Given the description of an element on the screen output the (x, y) to click on. 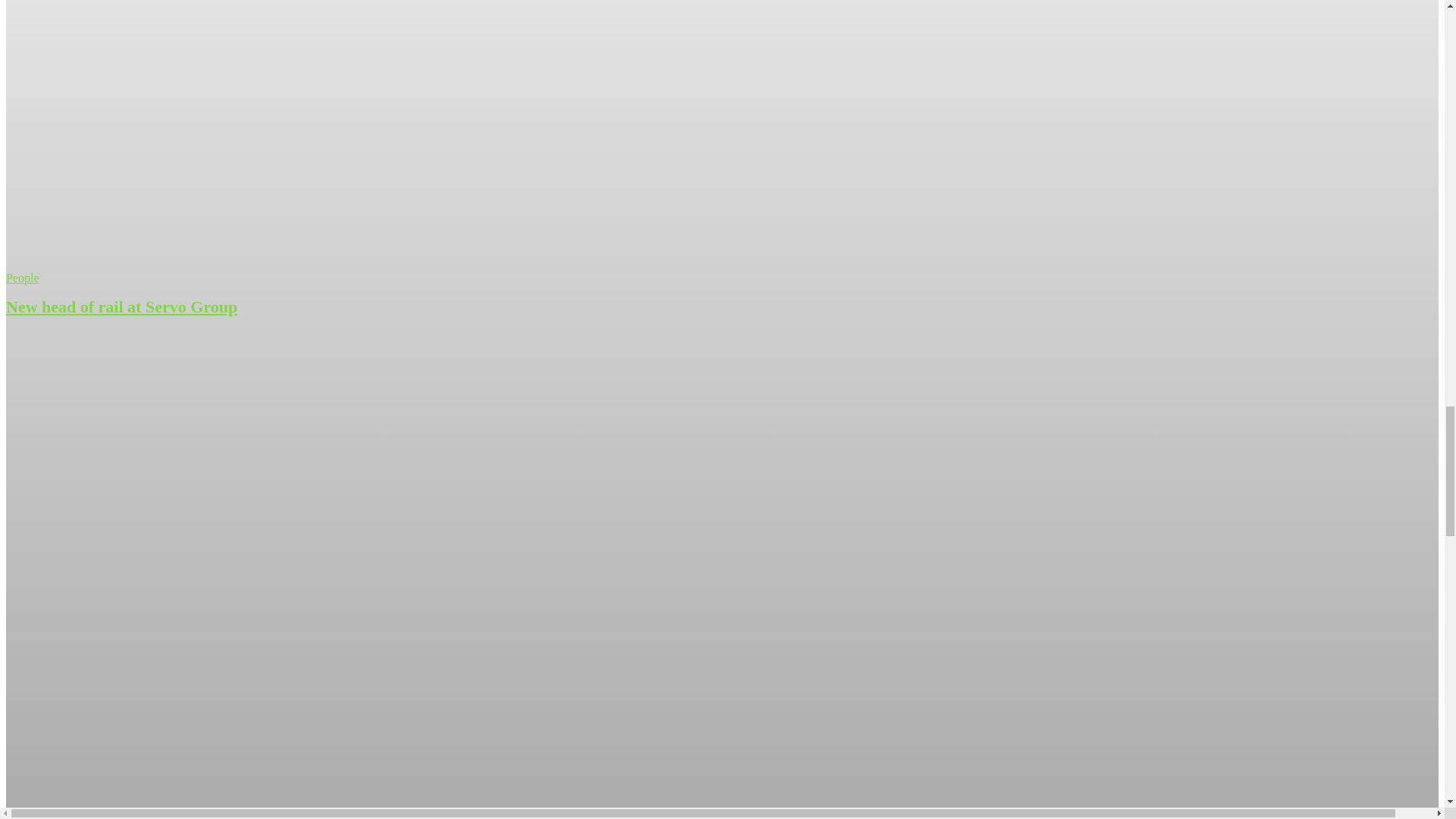
New head of rail at Servo Group (121, 306)
